Given the description of an element on the screen output the (x, y) to click on. 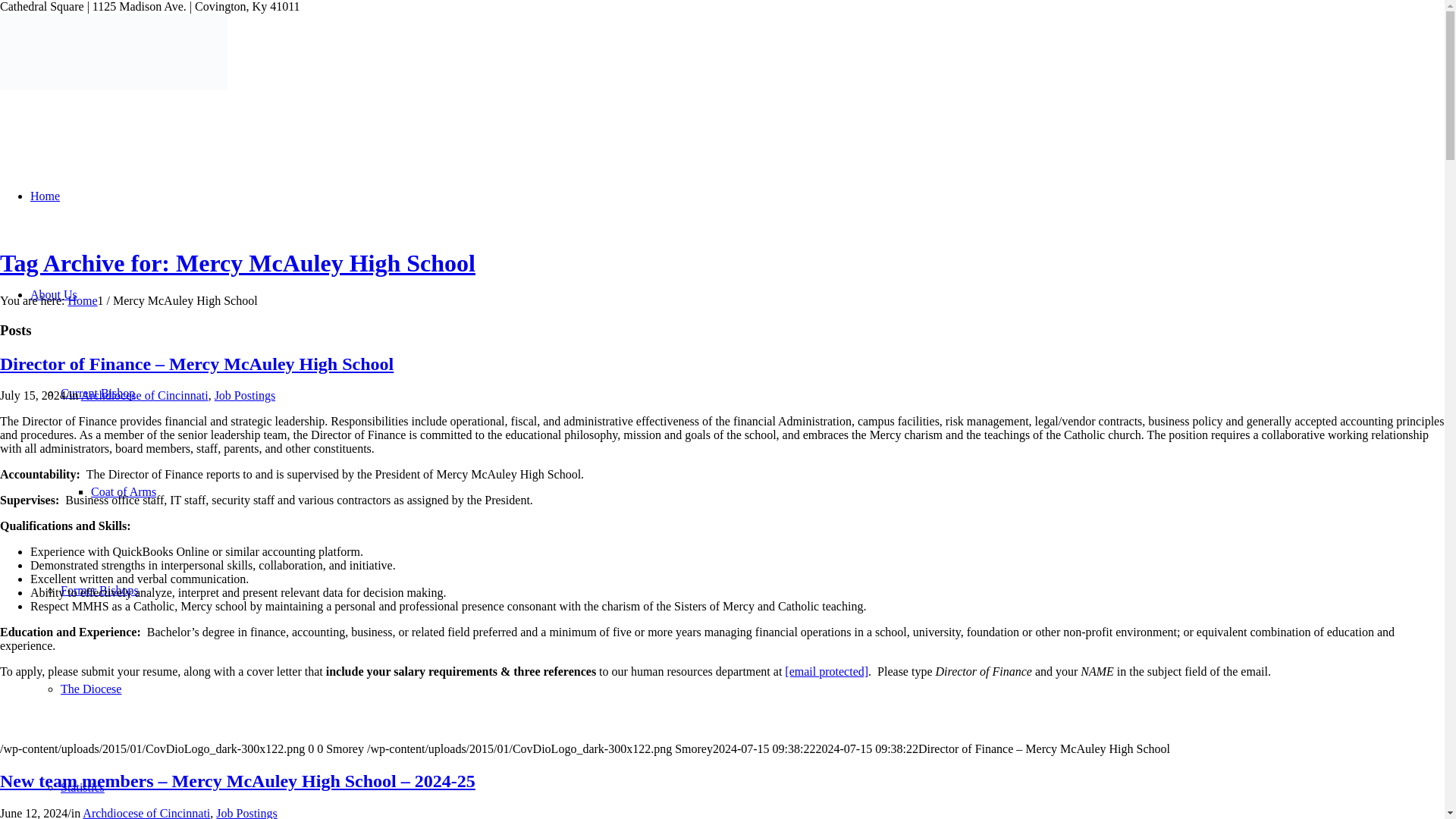
Home (44, 195)
The Diocese (90, 688)
Diocese of Covington (81, 300)
Statistics (82, 787)
Coat of Arms (122, 491)
Current Bishop (98, 392)
About Us (53, 294)
Former Bishops (99, 590)
Permanent Link: Tag Archive for: Mercy McAuley High School (238, 262)
